Given the description of an element on the screen output the (x, y) to click on. 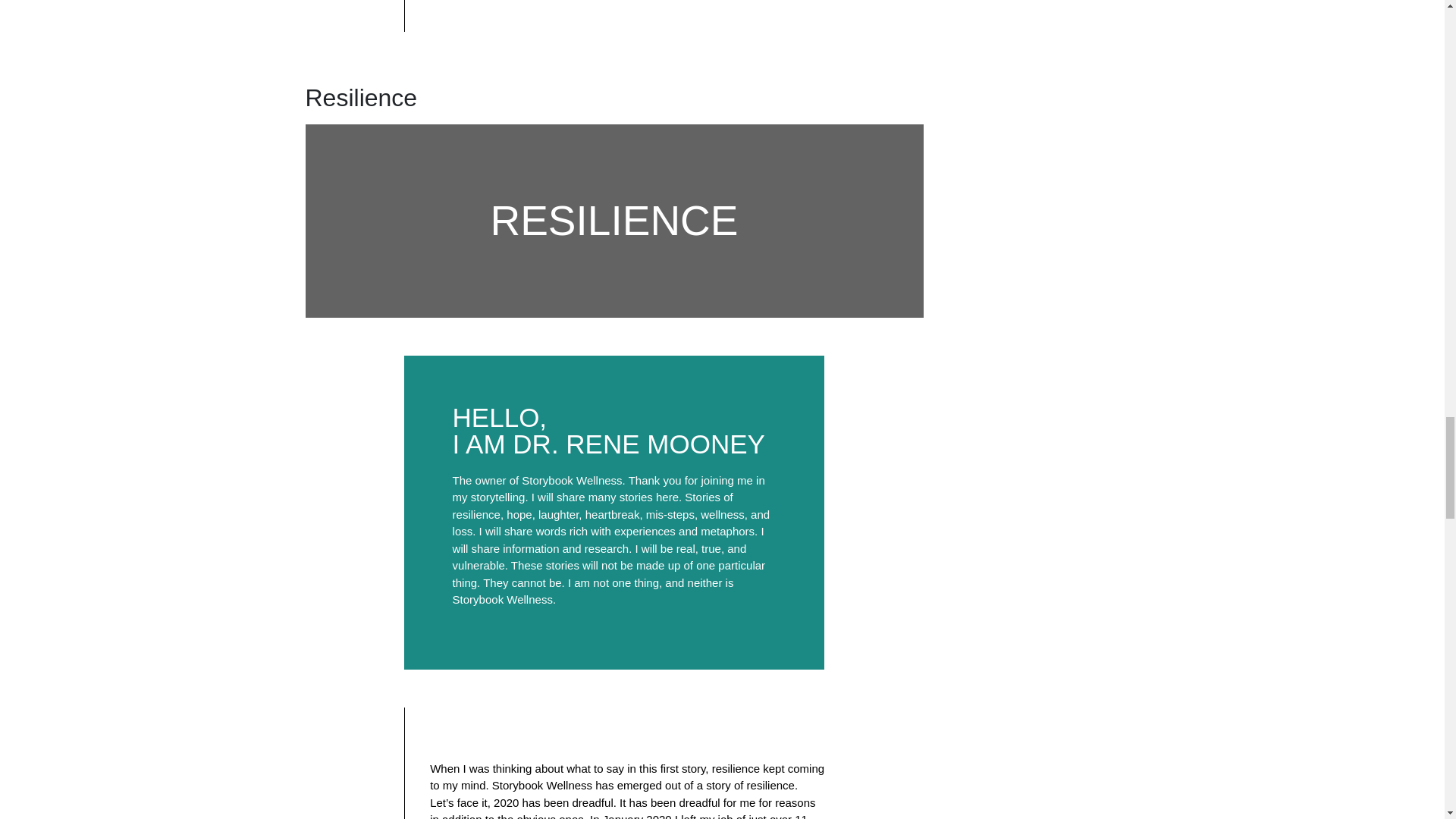
Resilience (360, 97)
